Given the description of an element on the screen output the (x, y) to click on. 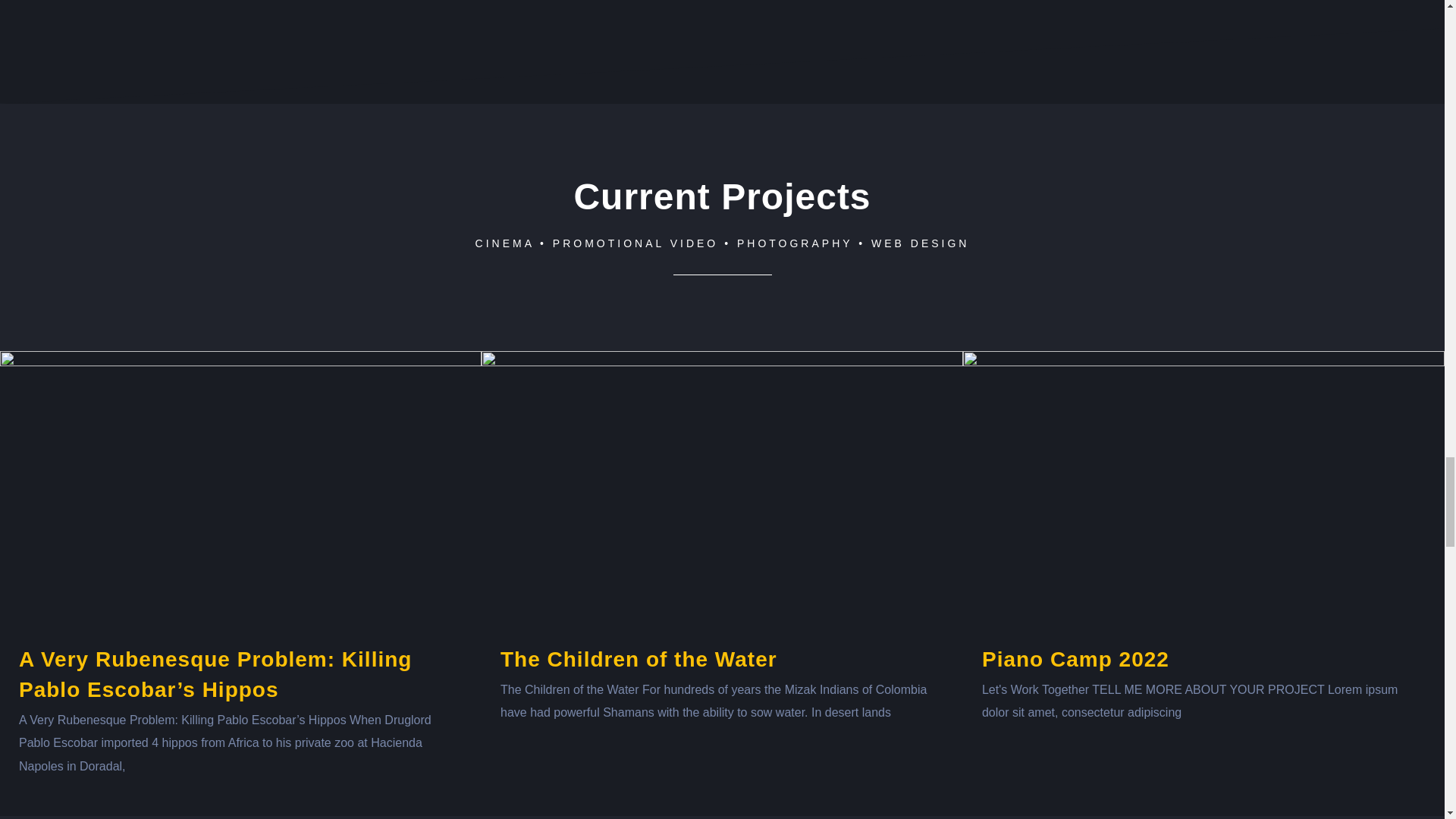
Piano Camp 2022 (1075, 658)
The Children of the Water (638, 658)
